Given the description of an element on the screen output the (x, y) to click on. 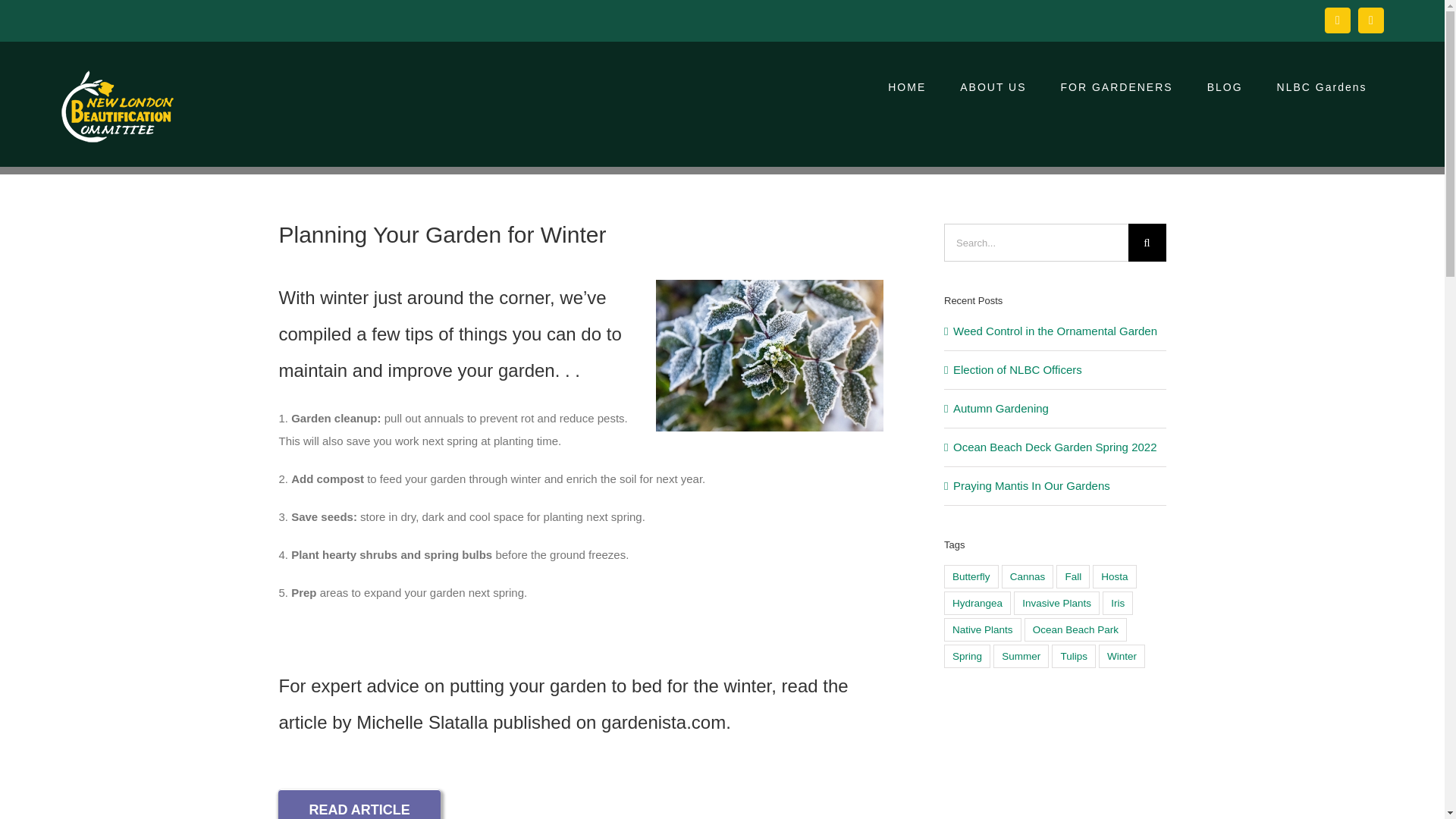
YouTube (1371, 20)
ABOUT US (993, 86)
Facebook (1337, 20)
NLBC Gardens (1321, 86)
YouTube (1371, 20)
FOR GARDENERS (1116, 86)
HOME (906, 86)
READ ARTICLE (358, 804)
Facebook (1337, 20)
BLOG (1224, 86)
